Given the description of an element on the screen output the (x, y) to click on. 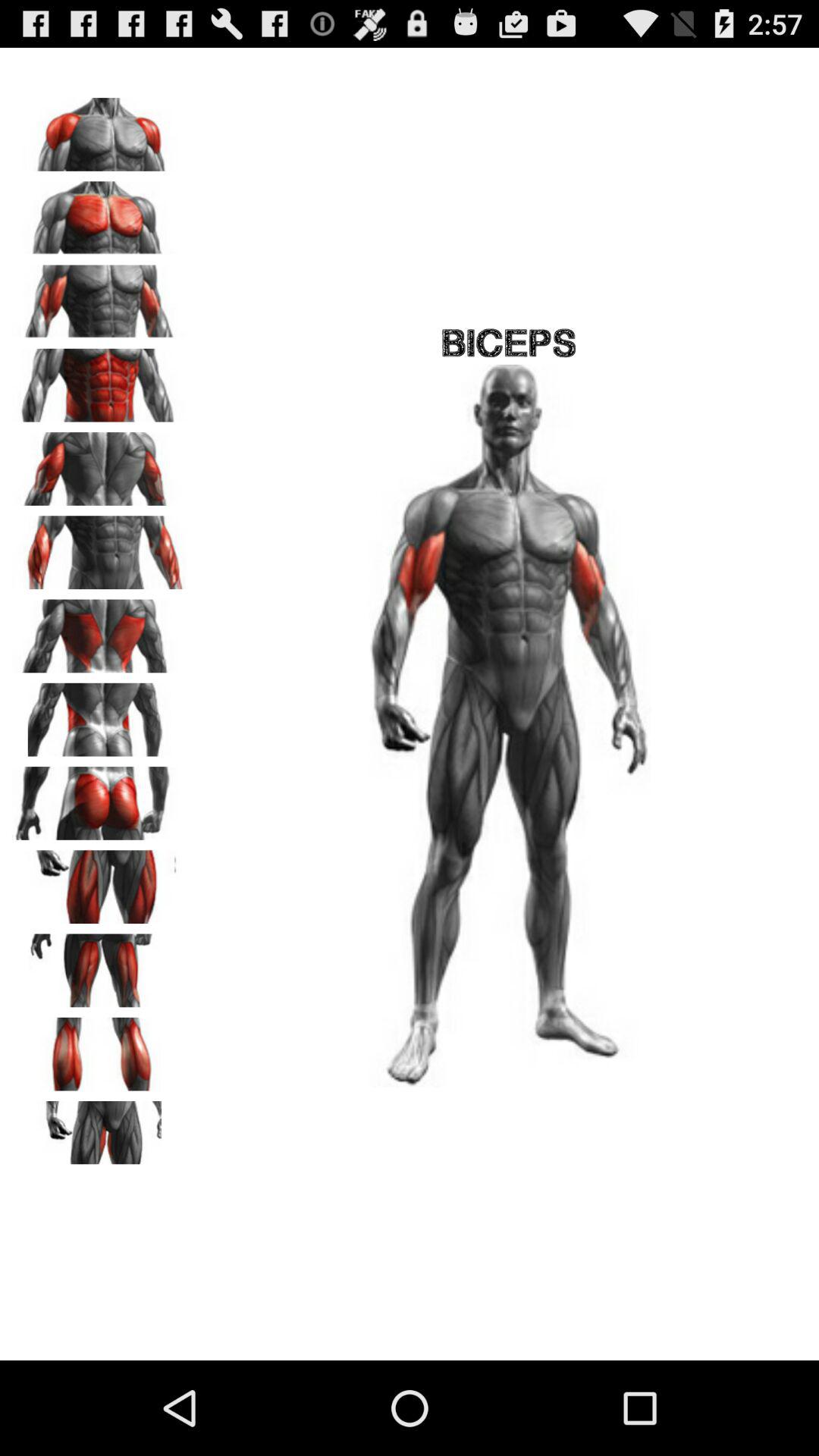
advice on how to workout muscles in buttocks (99, 798)
